Given the description of an element on the screen output the (x, y) to click on. 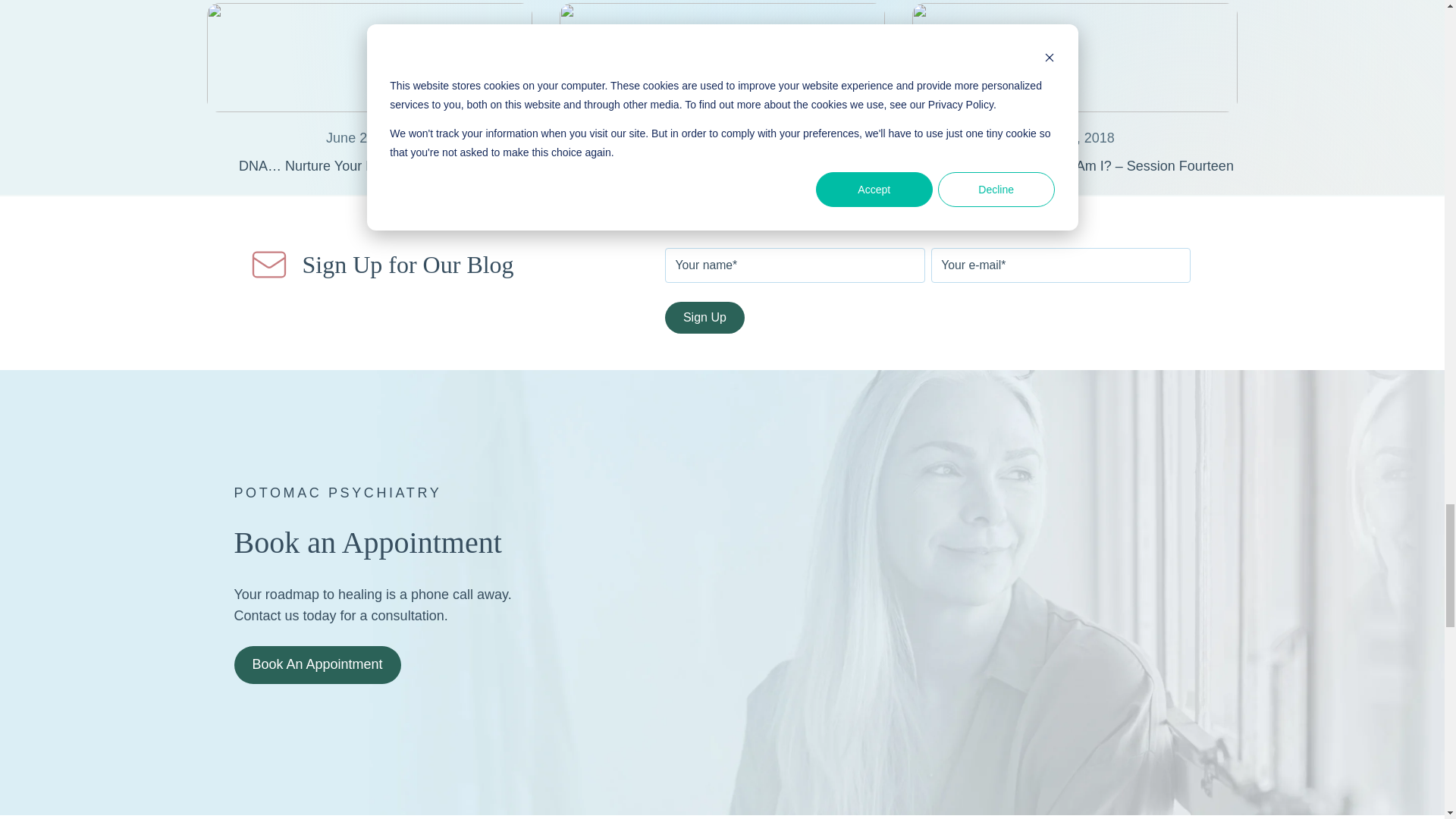
Sign Up (704, 317)
